Given the description of an element on the screen output the (x, y) to click on. 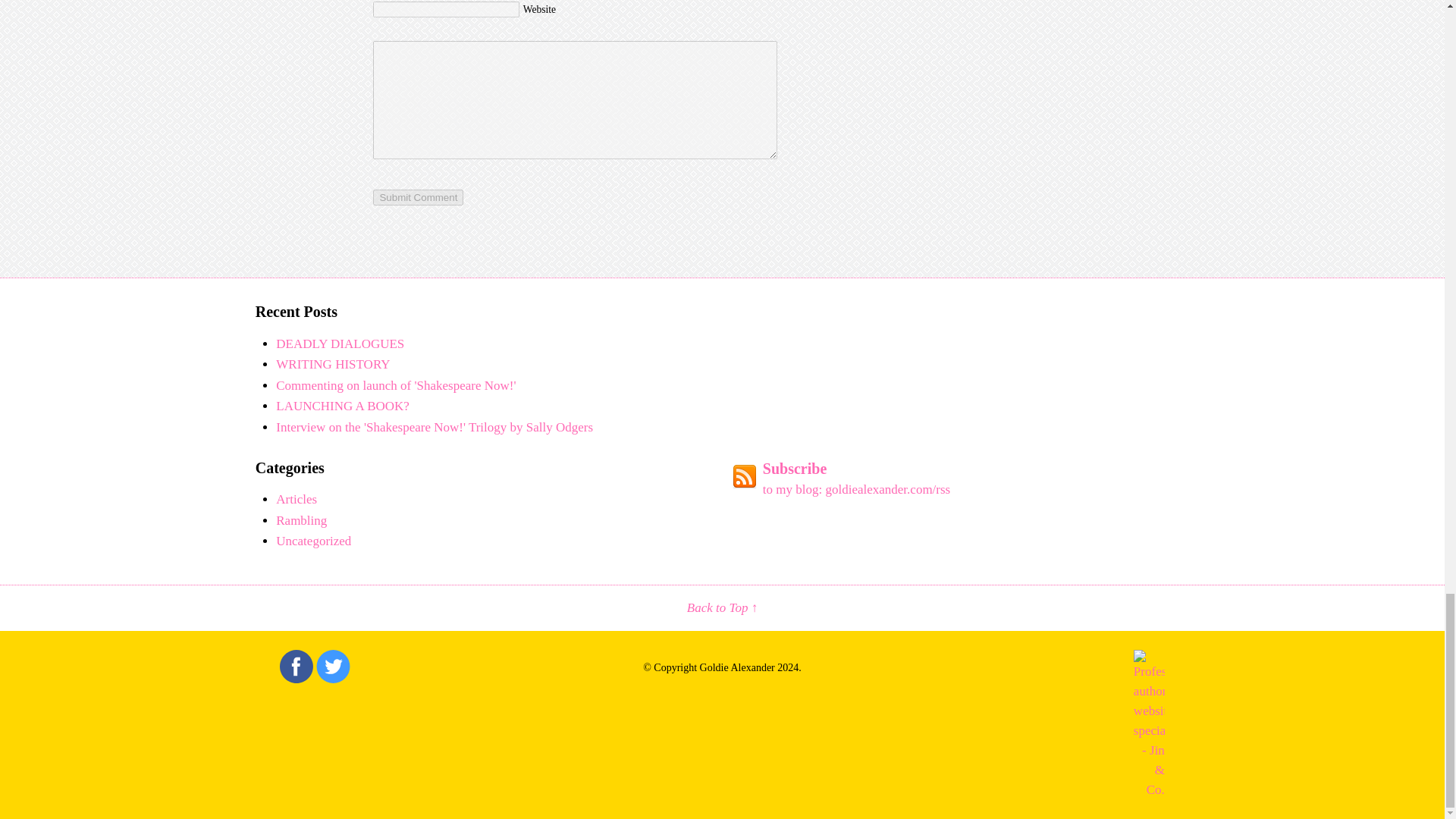
DEADLY DIALOGUES (340, 344)
Look Commenting on launch of 'Shakespeare Now!' (395, 385)
Interview on the 'Shakespeare Now!' Trilogy by Sally Odgers (434, 427)
Look LAUNCHING A BOOK? (342, 406)
Rambling (301, 520)
Uncategorized (313, 540)
Look WRITING HISTORY (333, 364)
Submit Comment (417, 197)
Articles (296, 499)
LAUNCHING A BOOK? (342, 406)
Submit Comment (417, 197)
WRITING HISTORY (333, 364)
Look DEADLY DIALOGUES (340, 344)
Commenting on launch of 'Shakespeare Now!' (395, 385)
